Given the description of an element on the screen output the (x, y) to click on. 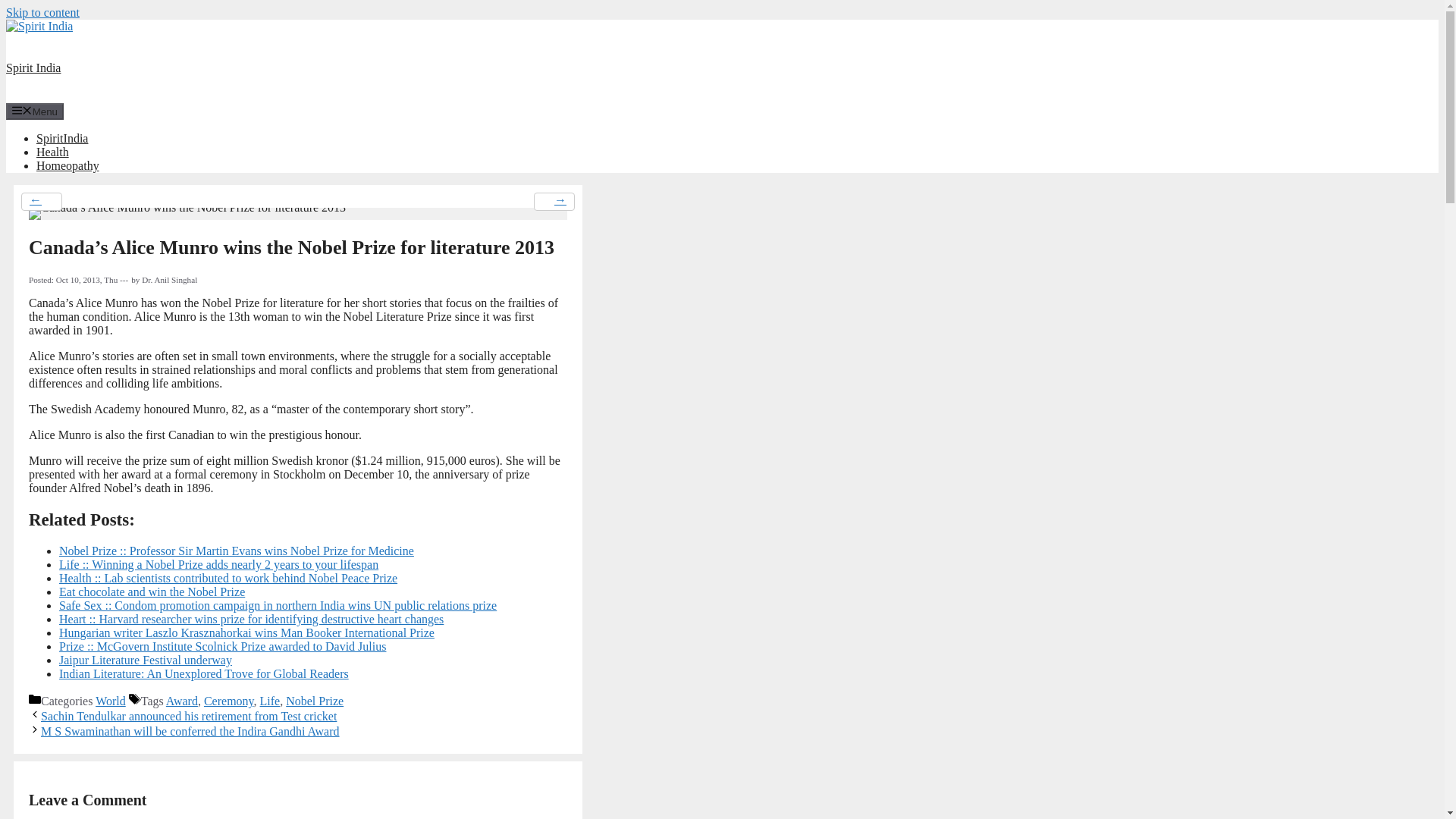
Menu (34, 111)
World (110, 700)
SpiritIndia (61, 137)
Spirit India (33, 67)
Award (181, 700)
Skip to content (42, 11)
Eat chocolate and win the Nobel Prize (151, 591)
Spirit India (38, 26)
M S Swaminathan will be conferred the Indira Gandhi Award (189, 730)
Indian Literature: An Unexplored Trove for Global Readers (204, 673)
Jaipur Literature Festival underway (145, 659)
Health (52, 151)
